Given the description of an element on the screen output the (x, y) to click on. 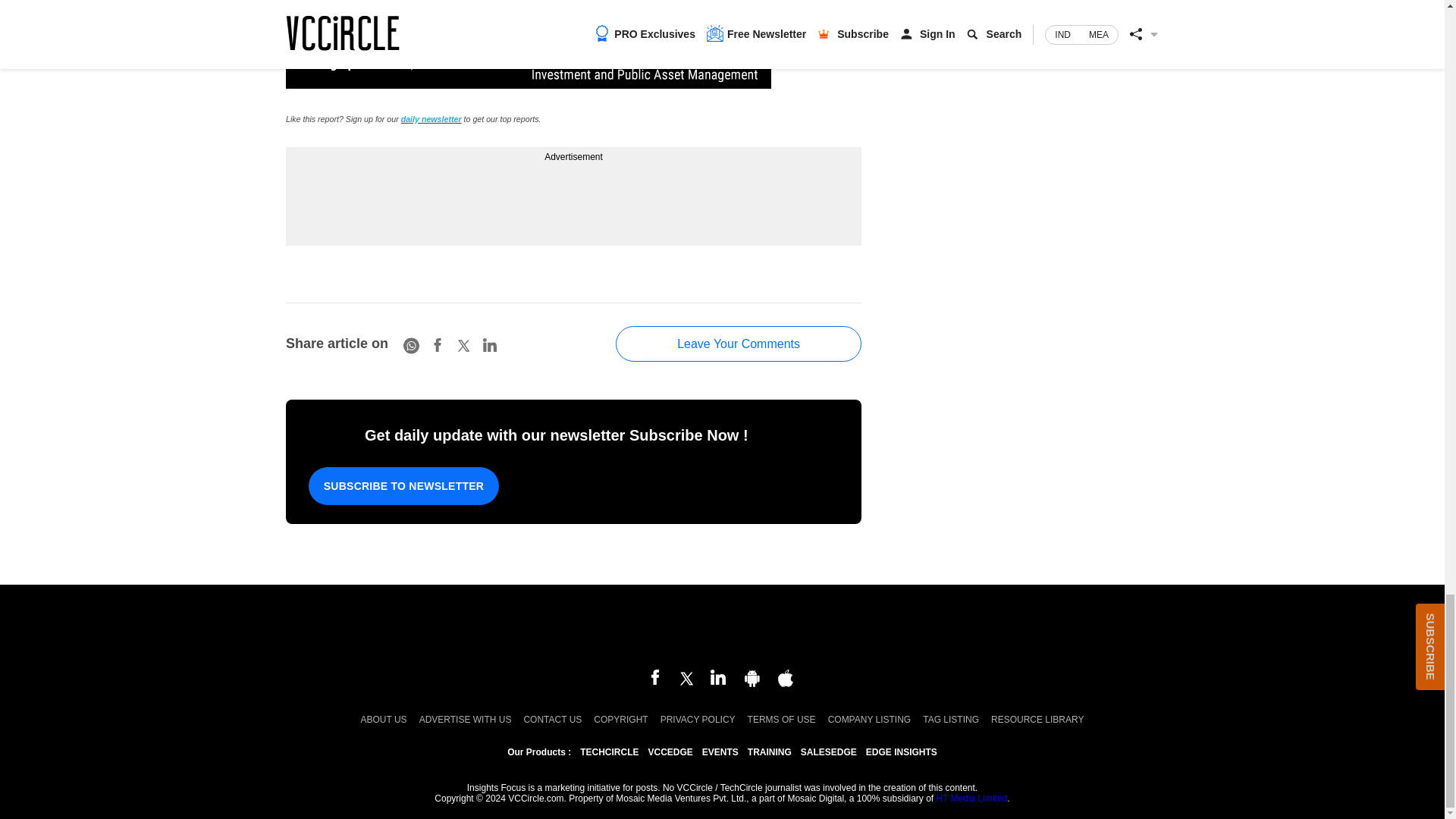
Mosaic Digital (721, 628)
SUBSCRIBE TO NEWSLETTER (403, 485)
daily newsletter (431, 118)
Leave Your Comments (738, 343)
